Given the description of an element on the screen output the (x, y) to click on. 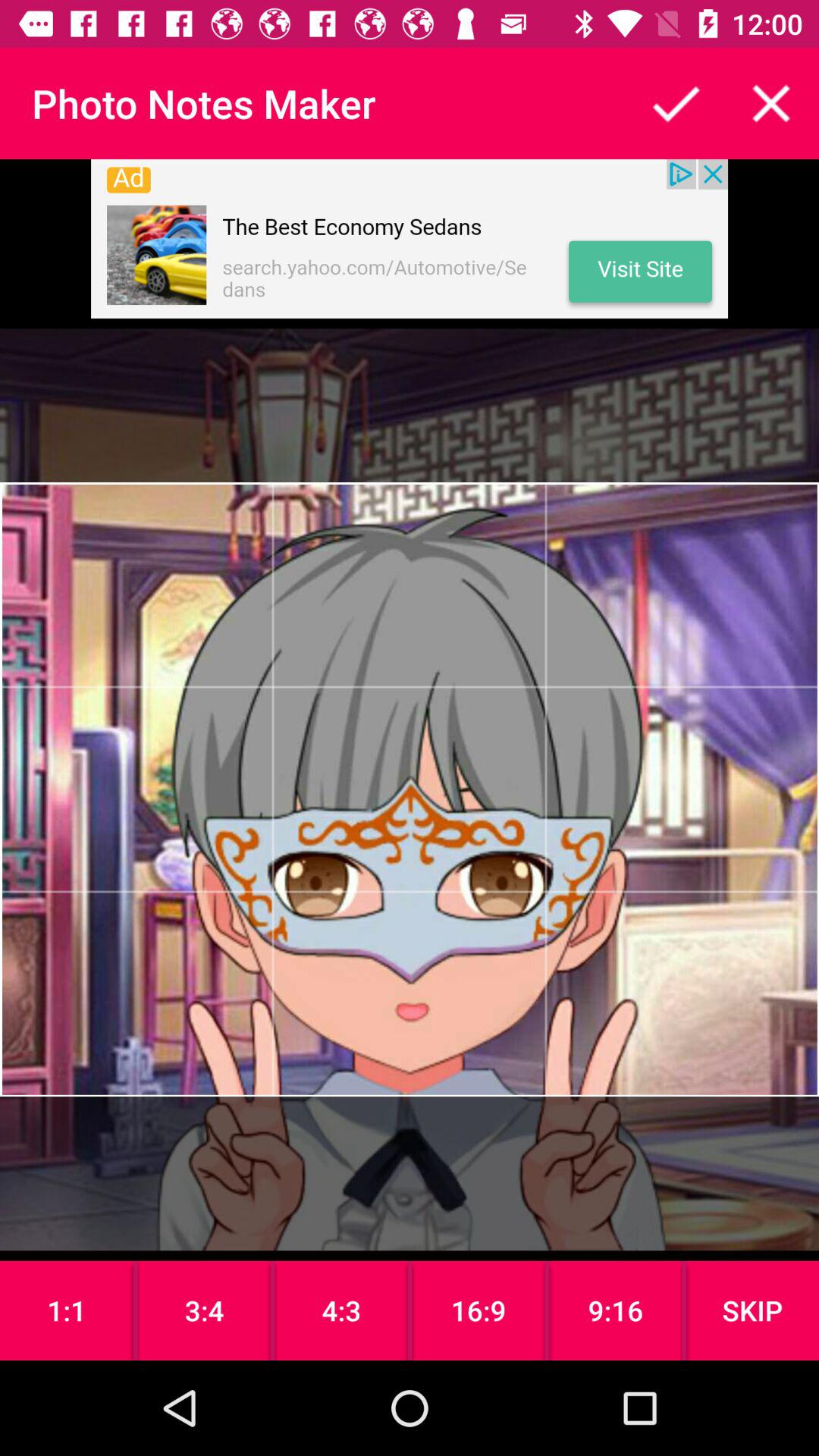
close page (771, 103)
